Given the description of an element on the screen output the (x, y) to click on. 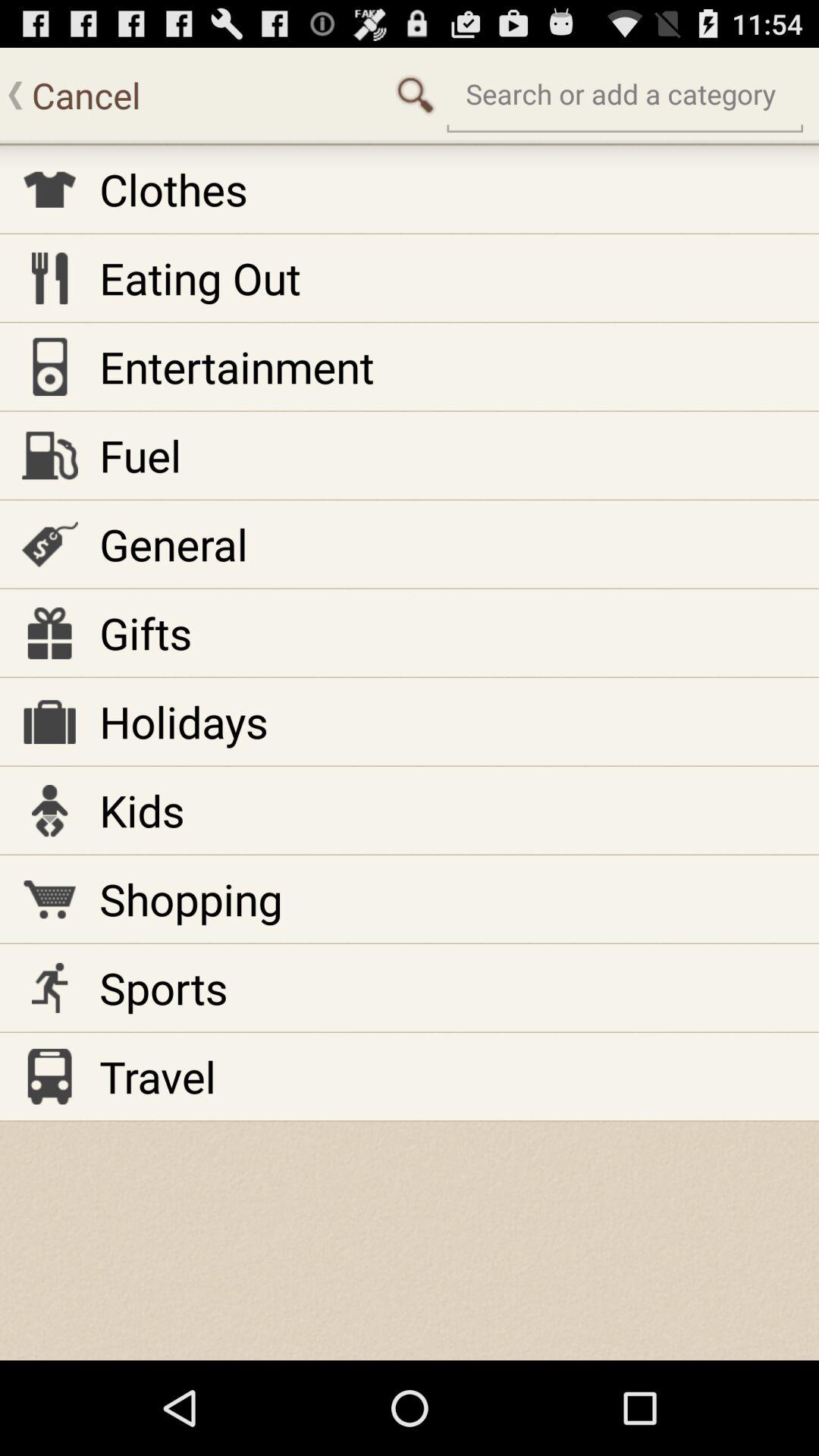
press the item above gifts item (173, 544)
